Given the description of an element on the screen output the (x, y) to click on. 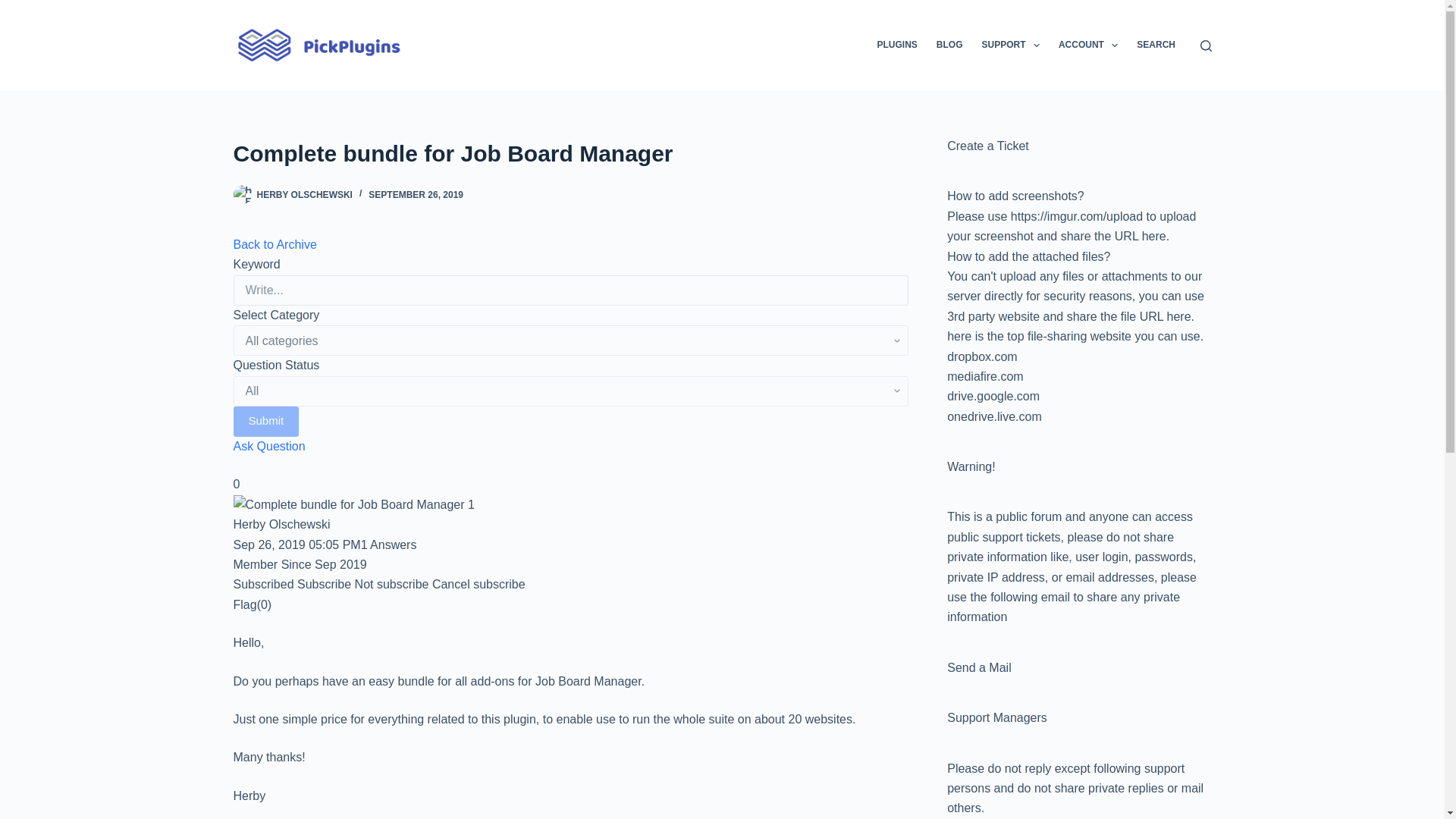
Skip to content (15, 7)
Posts by Herby Olschewski (304, 194)
Complete bundle for Job Board Manager 1 (353, 505)
Complete bundle for Job Board Manager (570, 153)
Submit (265, 421)
